Given the description of an element on the screen output the (x, y) to click on. 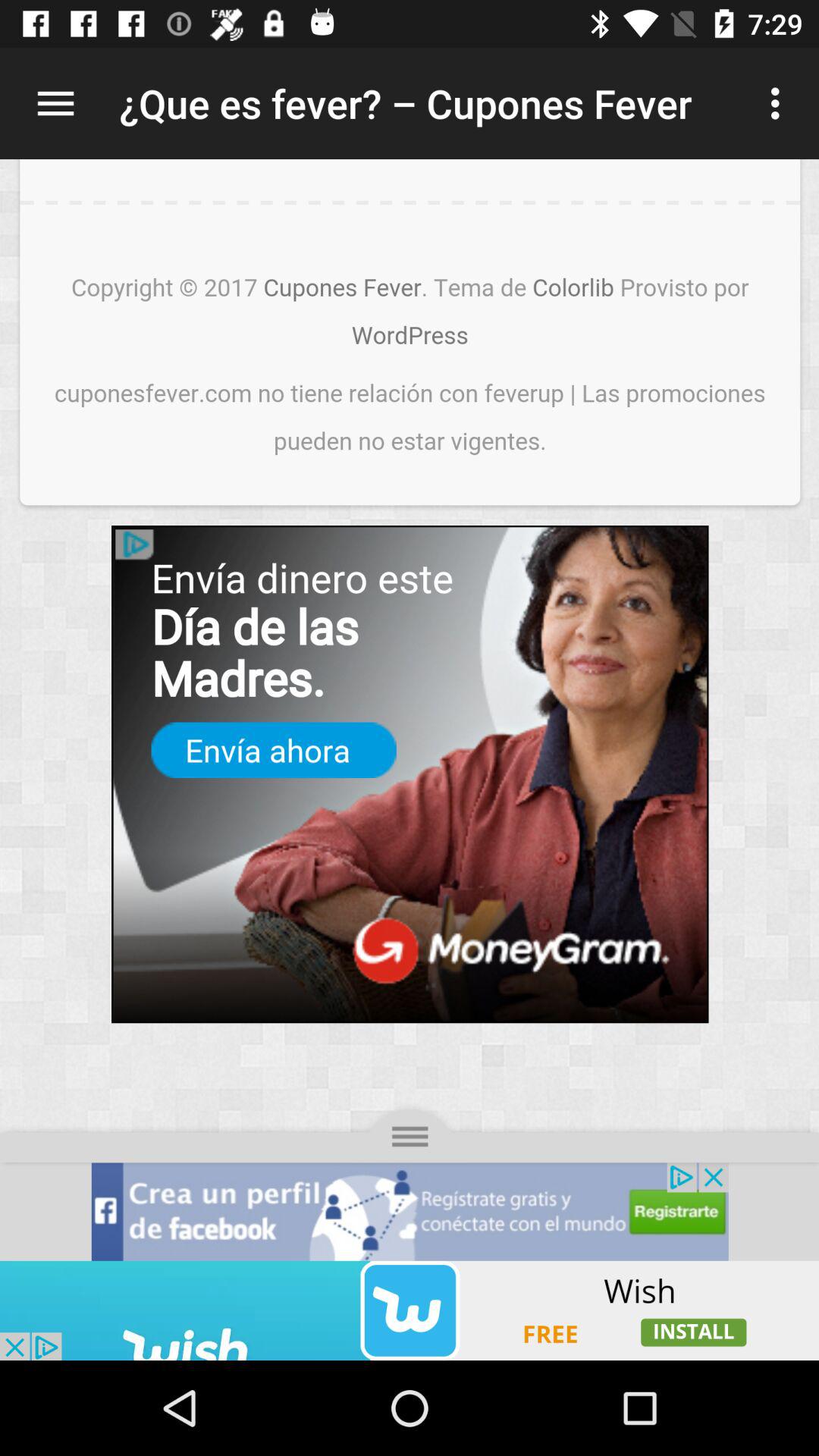
advertisement (409, 1310)
